Given the description of an element on the screen output the (x, y) to click on. 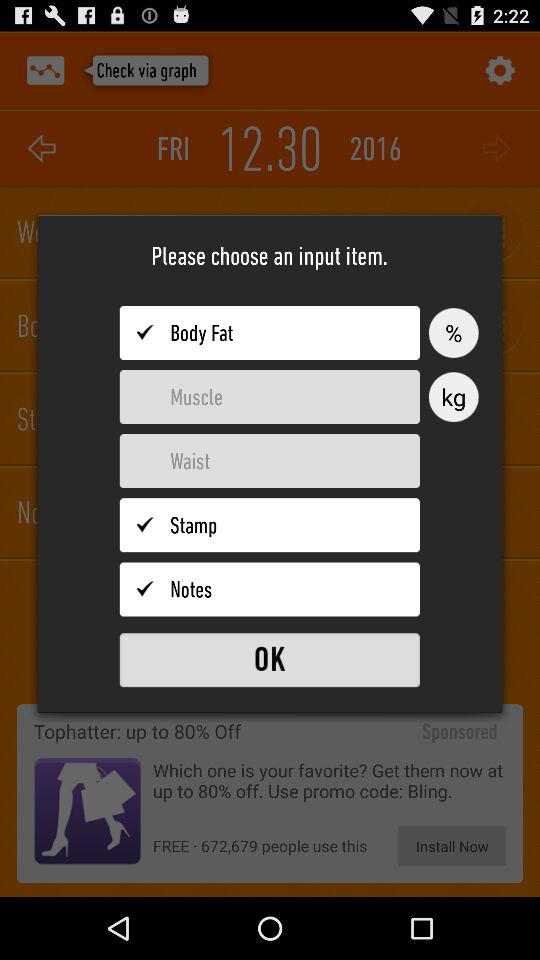
flip to % (453, 332)
